Given the description of an element on the screen output the (x, y) to click on. 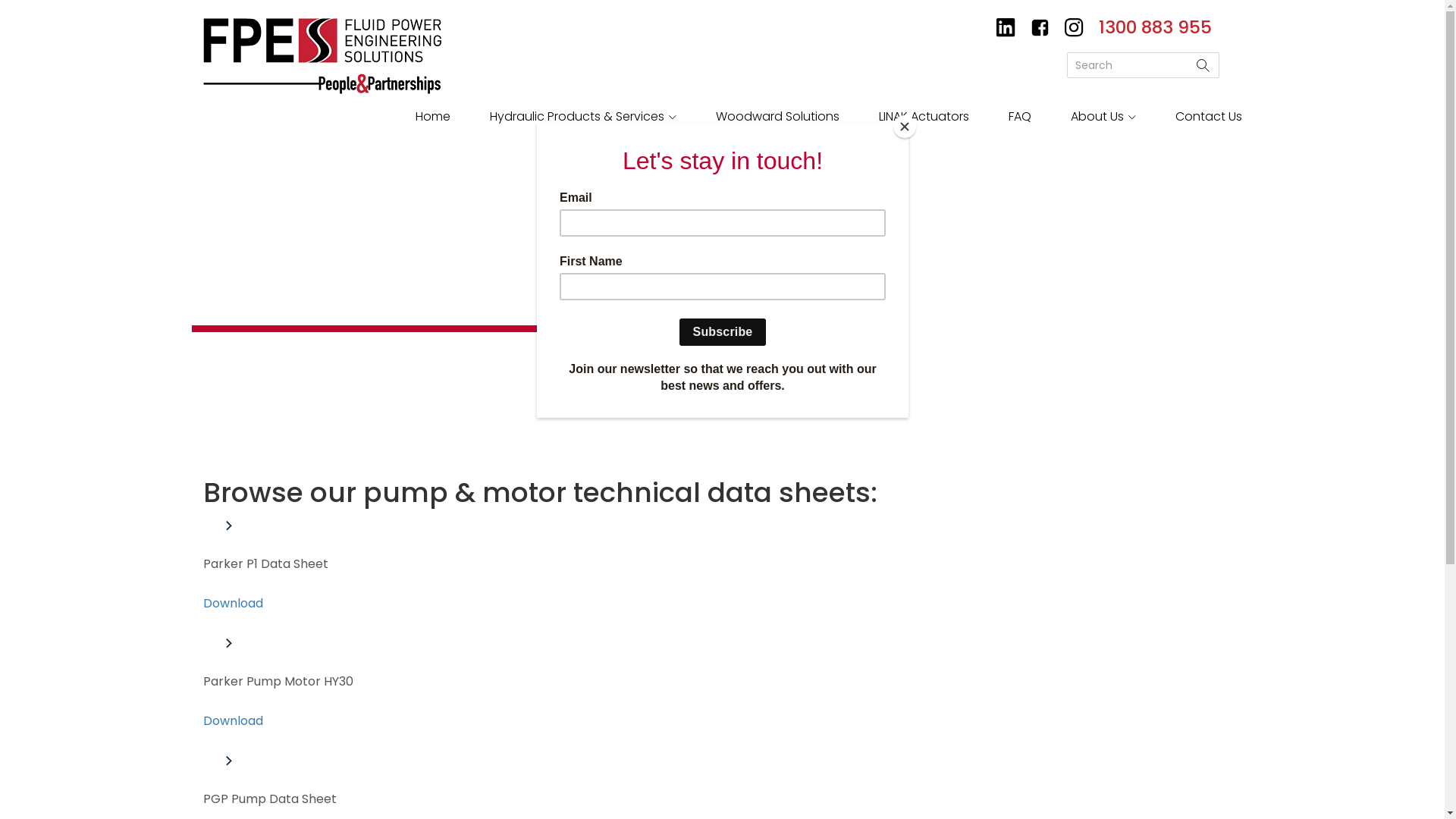
Download Element type: text (233, 602)
Contact Us Element type: text (1208, 115)
1300 883 955 Element type: text (1154, 27)
FAQ Element type: text (1019, 115)
  Element type: text (1038, 27)
Home Element type: text (432, 115)
FPES-Horiz-CMYK-TAG 2 Element type: hover (322, 56)
  Element type: text (1073, 27)
About Us Element type: text (1102, 115)
LINAK Actuators Element type: text (923, 115)
Woodward Solutions Element type: text (777, 115)
  Element type: text (1005, 27)
Hydraulic Products & Services Element type: text (582, 115)
Download Element type: text (233, 720)
